Given the description of an element on the screen output the (x, y) to click on. 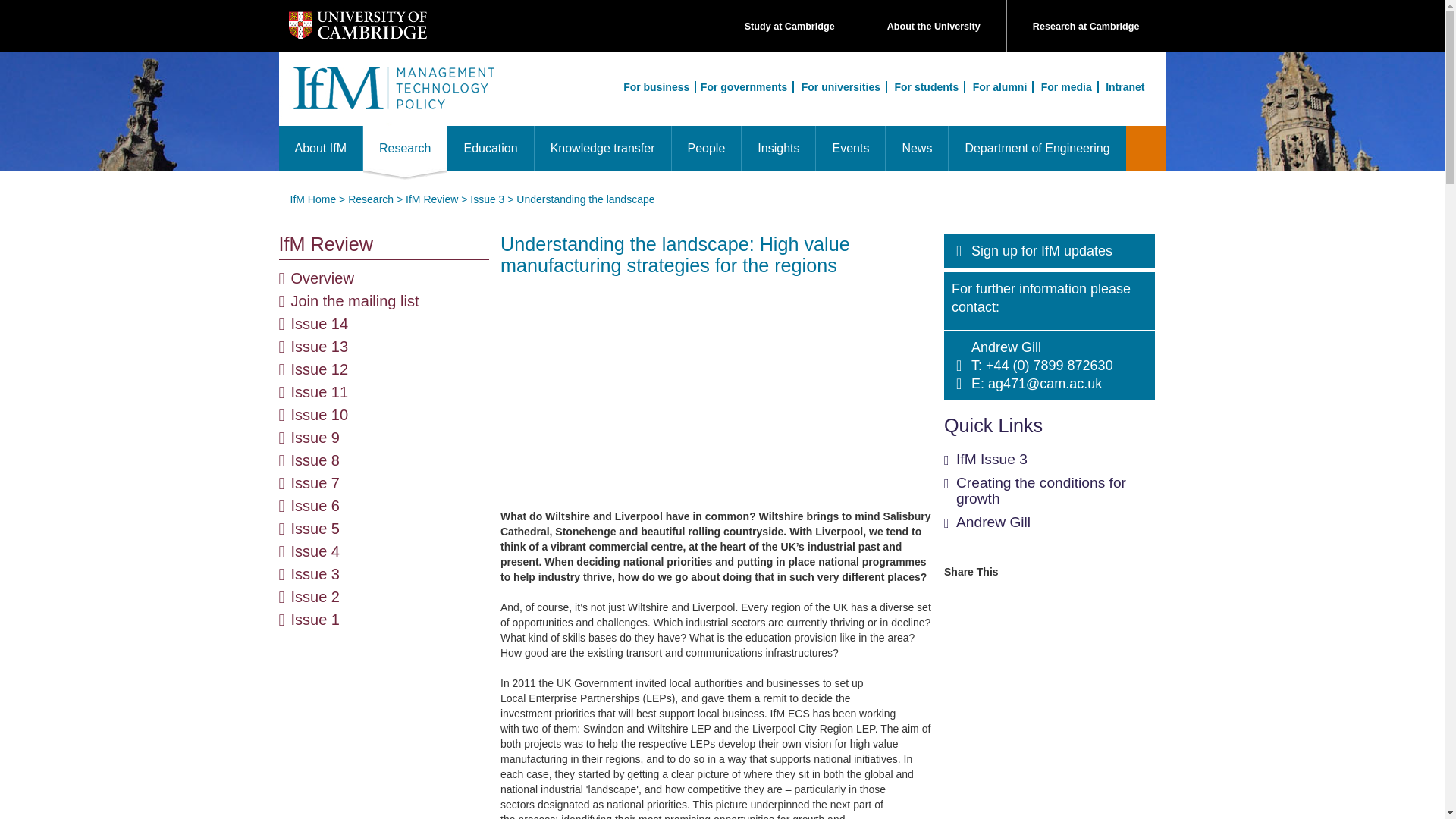
Issue 11 (320, 392)
About IfM (320, 148)
People (705, 148)
Knowledge transfer (602, 148)
For media (1067, 87)
Issue 10 (320, 414)
IfM Home (312, 199)
Issue 8 (315, 460)
IfM Review (384, 244)
Research (370, 199)
Research at Cambridge (1085, 26)
Creating the conditions for growth (1040, 490)
Issue 14 (320, 323)
Issue 12 (320, 369)
Understanding the landscape (584, 199)
